Given the description of an element on the screen output the (x, y) to click on. 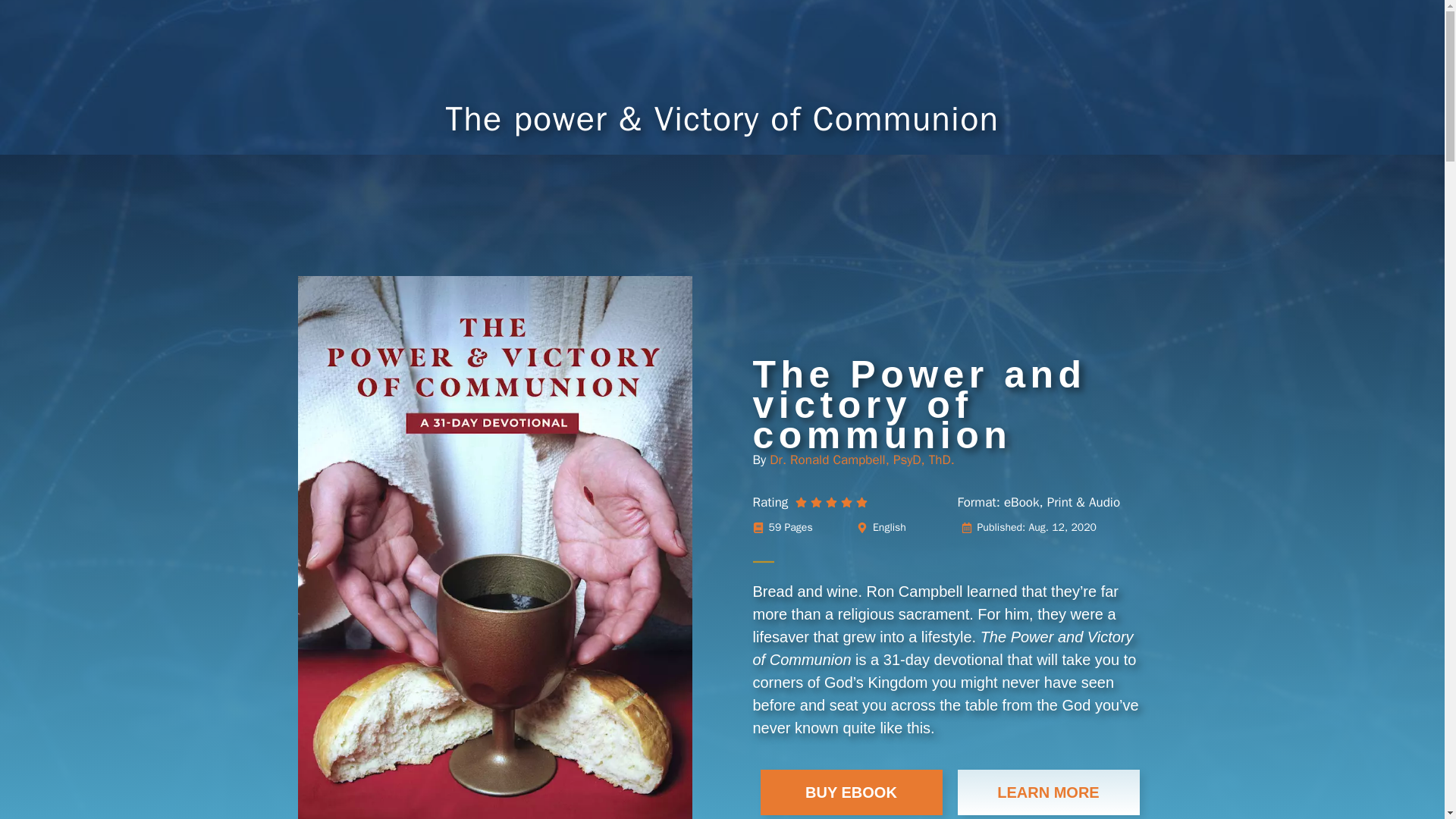
LEARN MORE (1047, 791)
BUY EBOOK (851, 791)
LEARN MORE (1047, 791)
Dr. Ronald Campbell, PsyD, ThD. (861, 459)
